Given the description of an element on the screen output the (x, y) to click on. 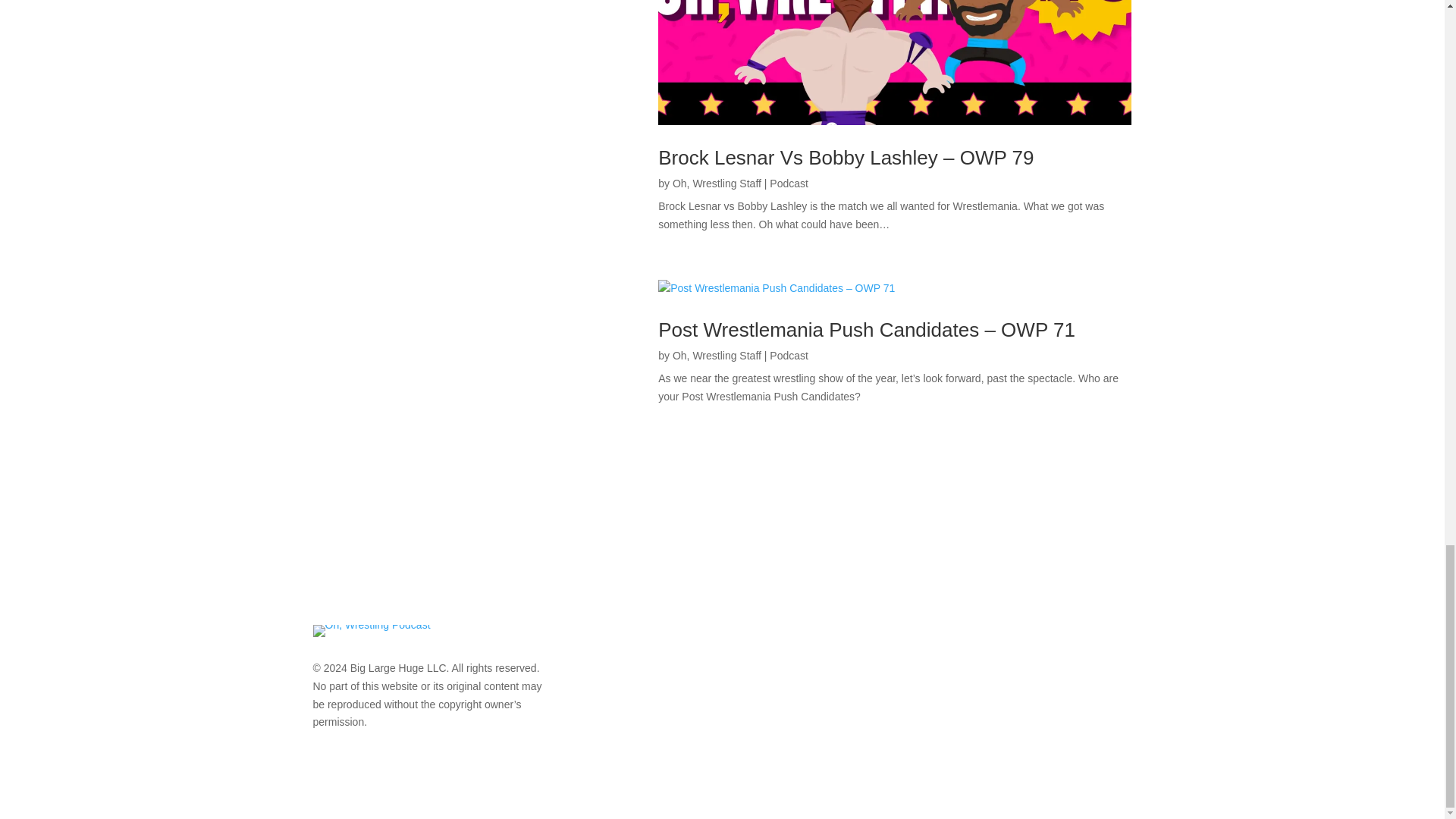
Oh, Wrestling Staff (716, 355)
Posts by Oh, Wrestling Staff (716, 183)
Oh, Wrestling Podcast (371, 630)
Posts by Oh, Wrestling Staff (716, 355)
Oh, Wrestling Staff (716, 183)
Podcast (789, 355)
Podcast (789, 183)
